Given the description of an element on the screen output the (x, y) to click on. 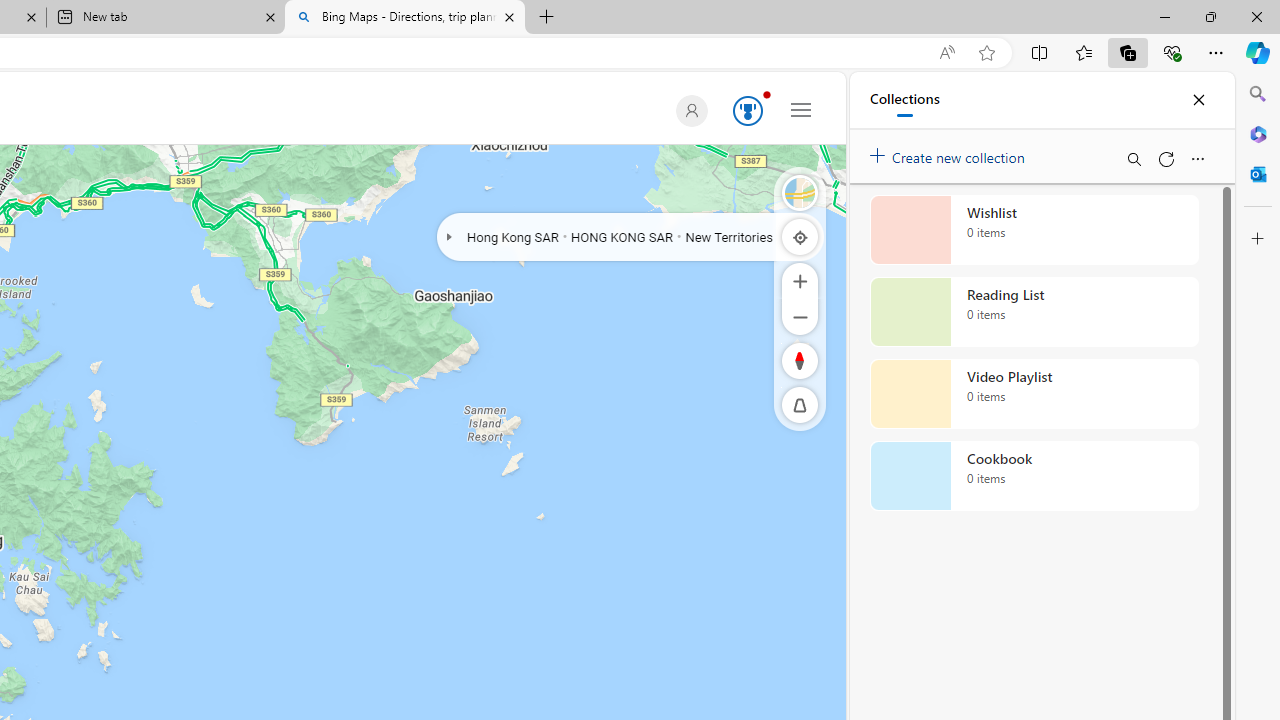
Microsoft Rewards 63 (744, 111)
Reset to Default Pitch (799, 405)
Animation (766, 94)
Road (799, 192)
AutomationID: rh_meter (748, 110)
Default Profile Picture (687, 110)
